Given the description of an element on the screen output the (x, y) to click on. 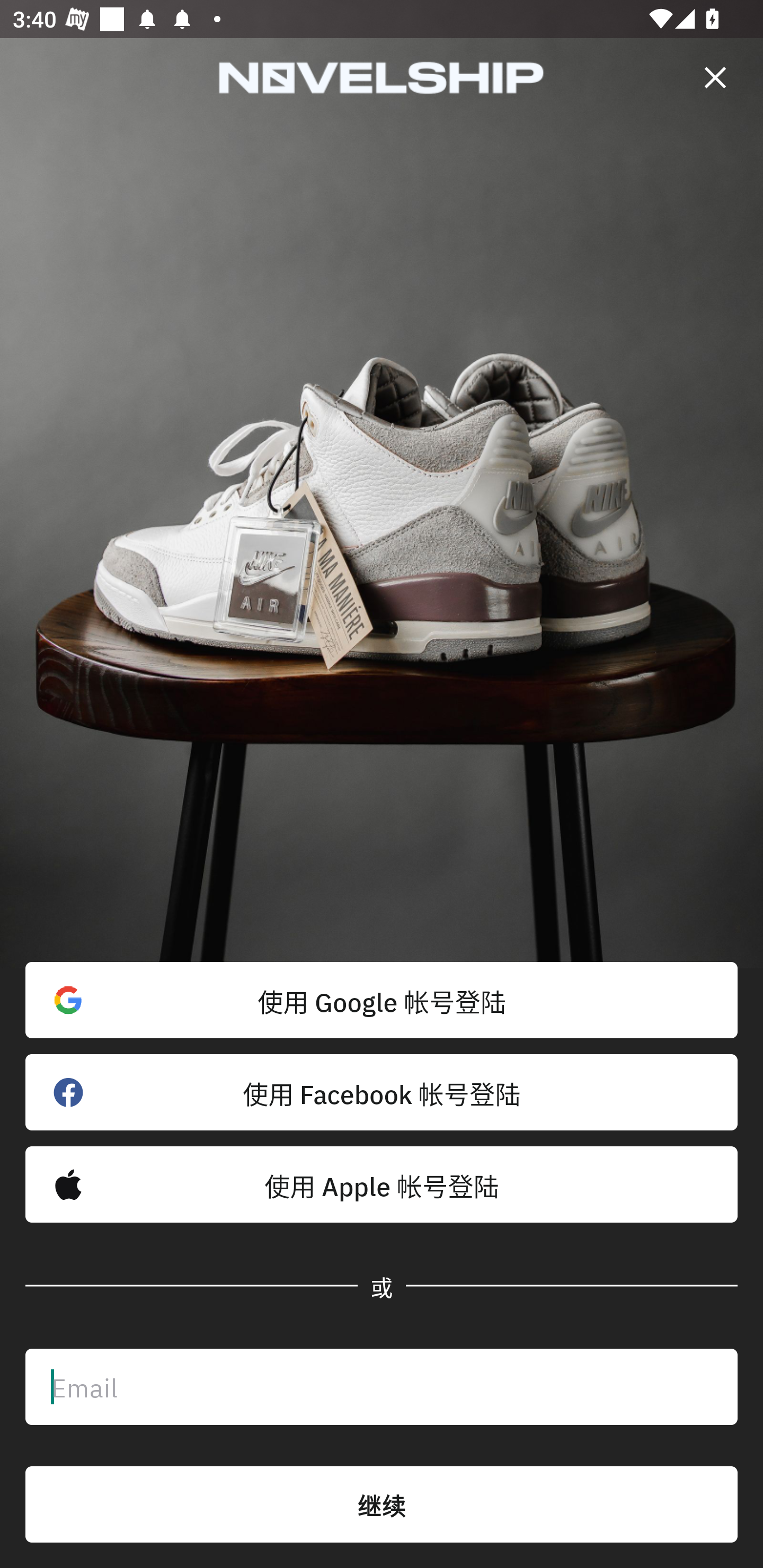
使用 Google 帐号登陆 (381, 1000)
使用 Facebook 帐号登陆 󰈌 (381, 1091)
 使用 Apple 帐号登陆 (381, 1184)
Email (381, 1386)
继续 (381, 1504)
